Given the description of an element on the screen output the (x, y) to click on. 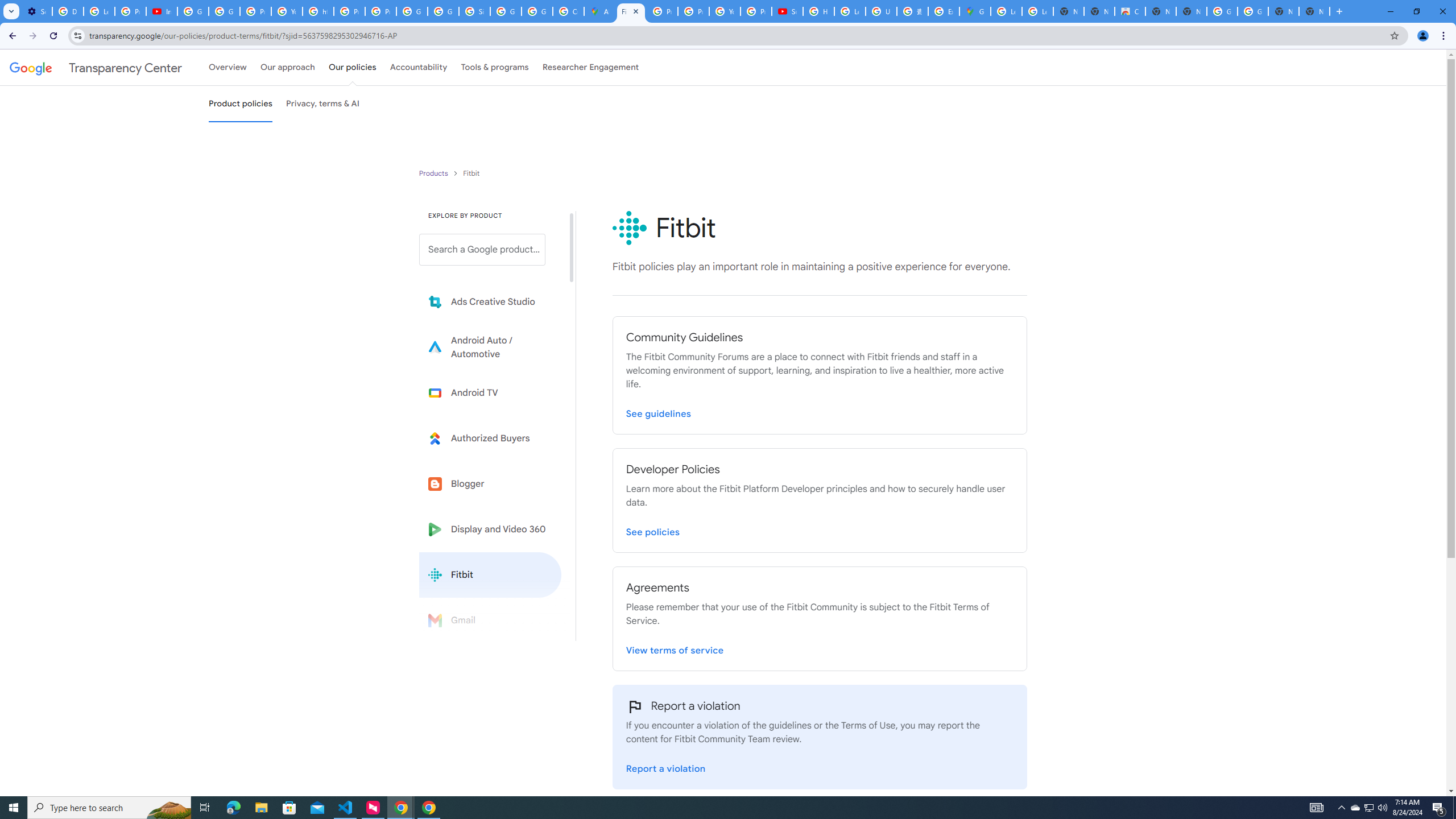
Gmail (490, 619)
Transparency Center (95, 67)
Search a Google product from below list. (481, 249)
Display and Video 360 (490, 529)
Product policies (434, 173)
Researcher Engagement (590, 67)
Privacy Help Center - Policies Help (693, 11)
Learn more about Ads Creative Studio (490, 302)
YouTube (724, 11)
